Given the description of an element on the screen output the (x, y) to click on. 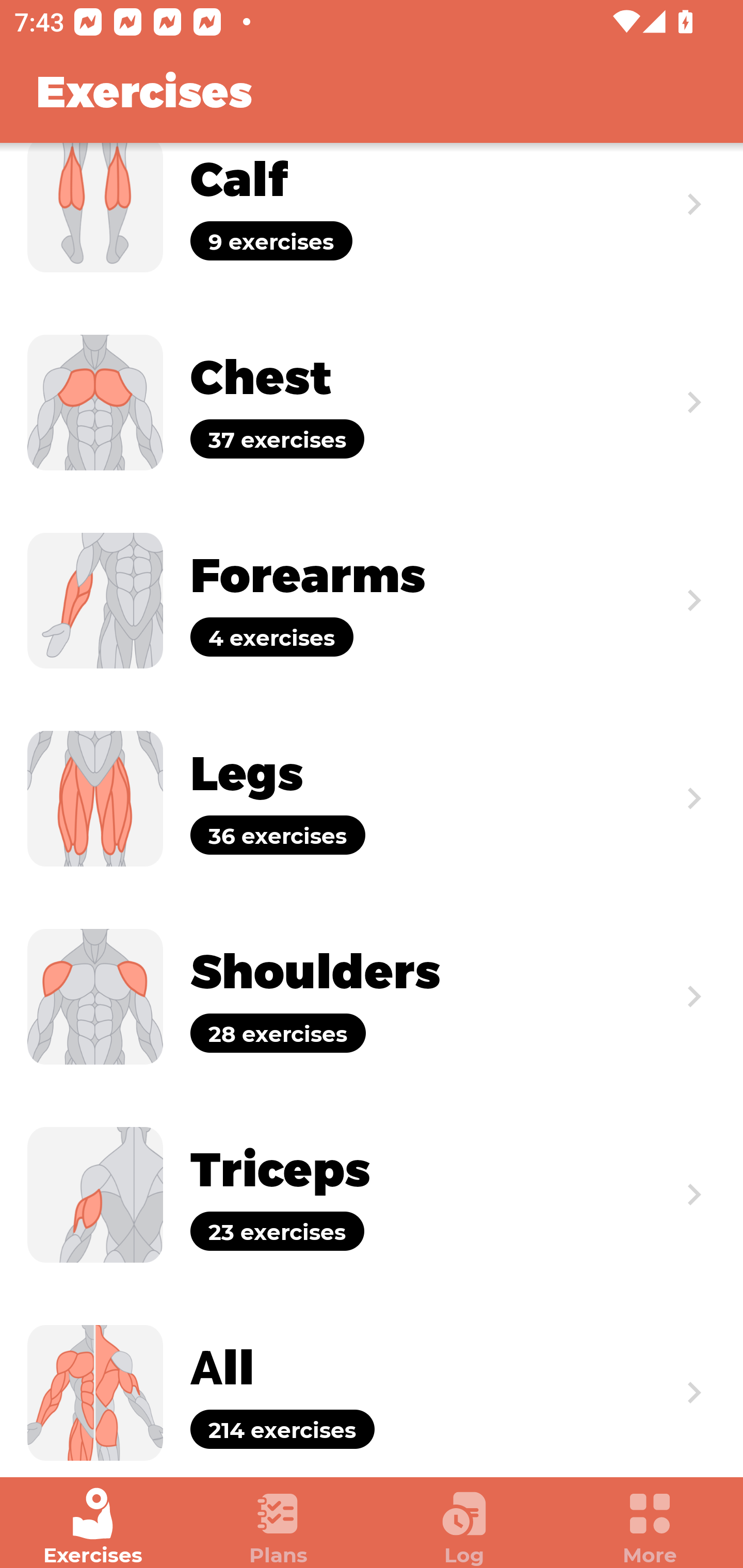
Exercise Calf 9 exercises (371, 223)
Exercise Chest 37 exercises (371, 401)
Exercise Forearms 4 exercises (371, 600)
Exercise Legs 36 exercises (371, 798)
Exercise Shoulders 28 exercises (371, 996)
Exercise Triceps 23 exercises (371, 1194)
Exercise Аll 214 exercises (371, 1385)
Exercises (92, 1527)
Plans (278, 1527)
Log (464, 1527)
More (650, 1527)
